Given the description of an element on the screen output the (x, y) to click on. 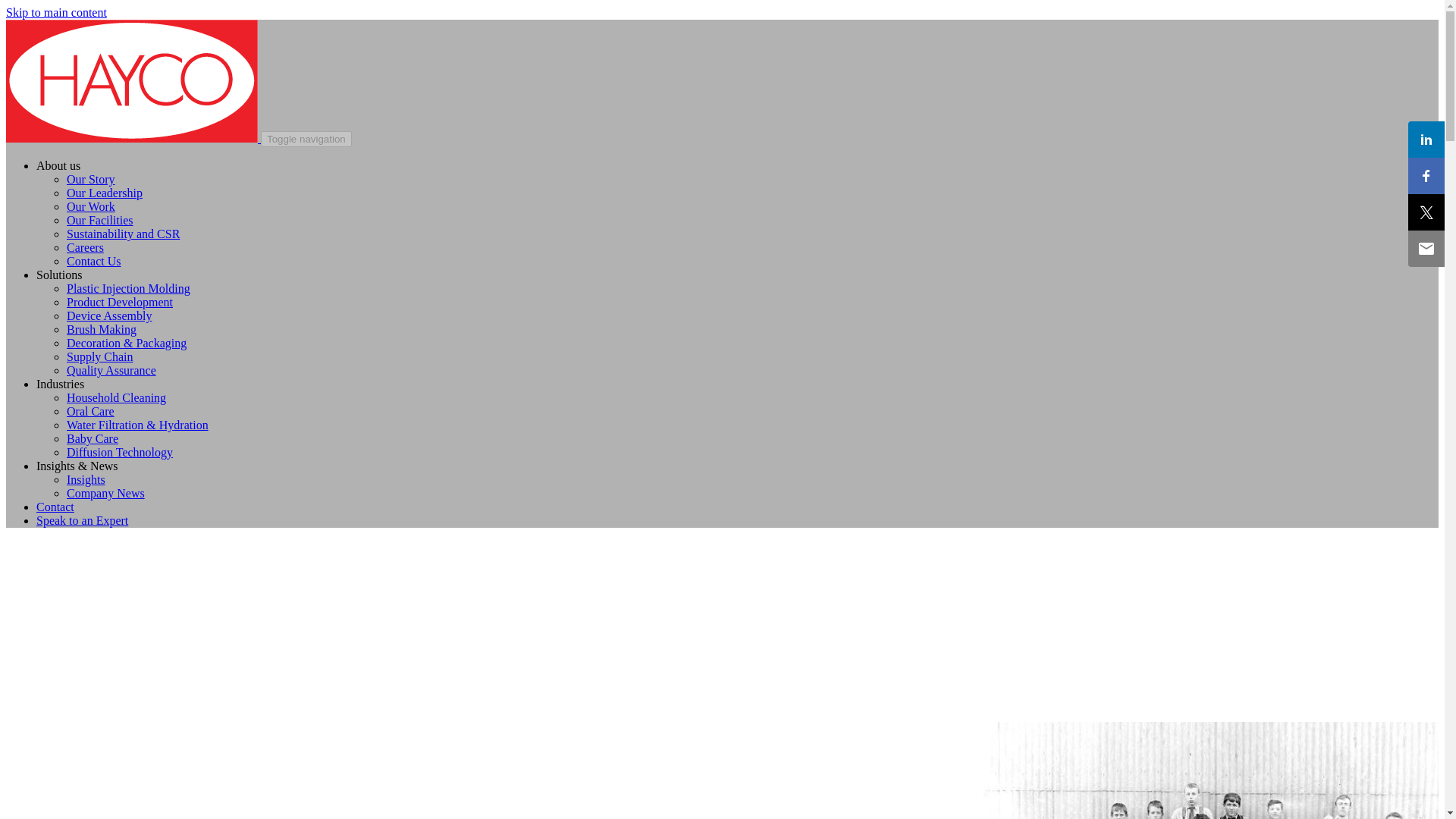
Product Development (119, 301)
Home (132, 137)
Baby Care (91, 438)
Our Work (90, 205)
Oral Care (90, 410)
Plastic Injection Molding (128, 287)
Insights (85, 479)
Speak to an Expert (82, 520)
Company News (105, 492)
Brush Making (101, 328)
Contact (55, 506)
Diffusion Technology (119, 451)
Our Story (90, 178)
Our Leadership (104, 192)
Contact Us (93, 260)
